Given the description of an element on the screen output the (x, y) to click on. 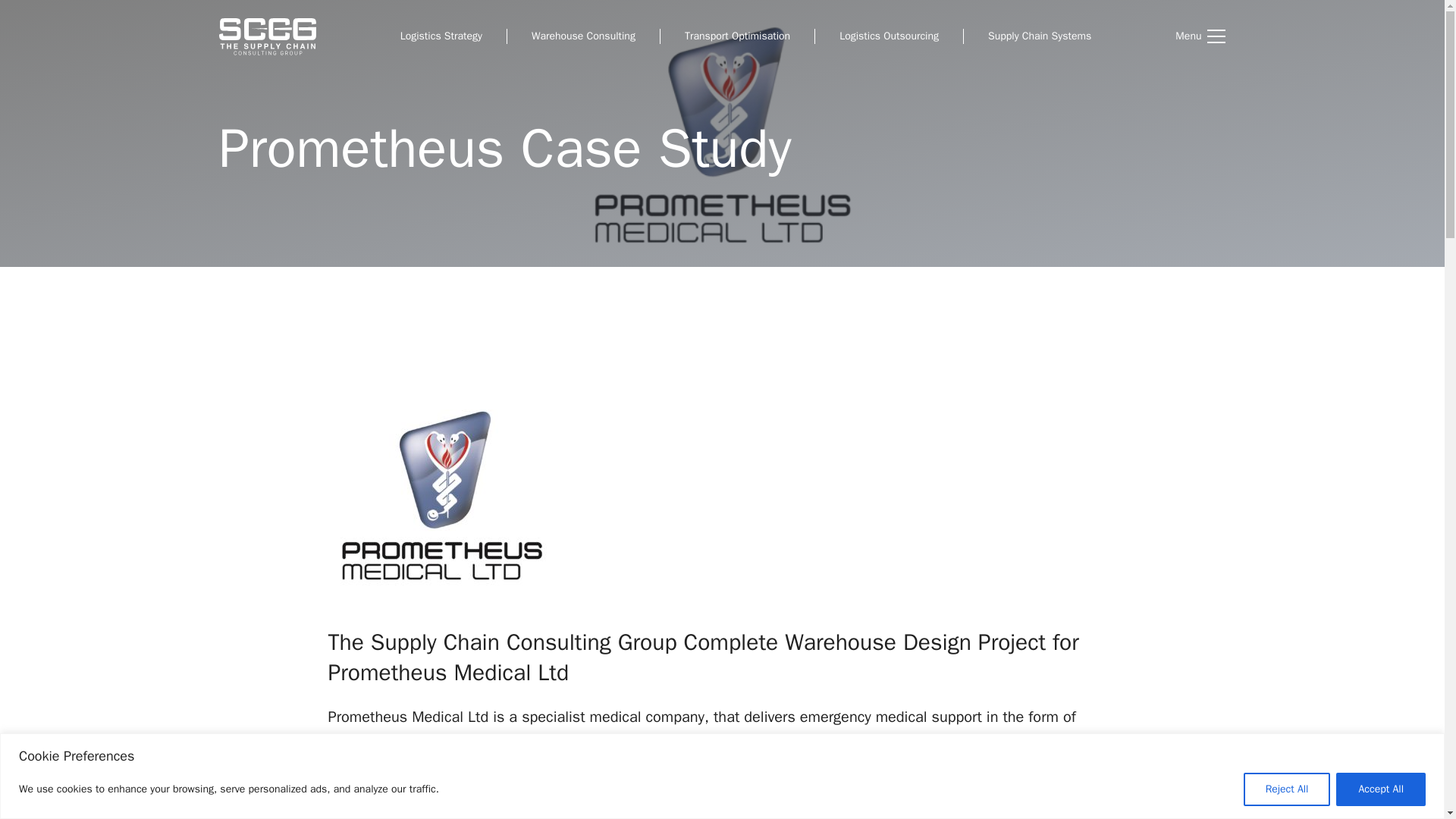
Accept All (1380, 788)
Transport Optimisation (737, 36)
Supply Chain Systems (1039, 36)
Warehouse Consulting (582, 36)
Reject All (1286, 788)
Logistics Outsourcing (889, 36)
Logistics Strategy (440, 36)
